Given the description of an element on the screen output the (x, y) to click on. 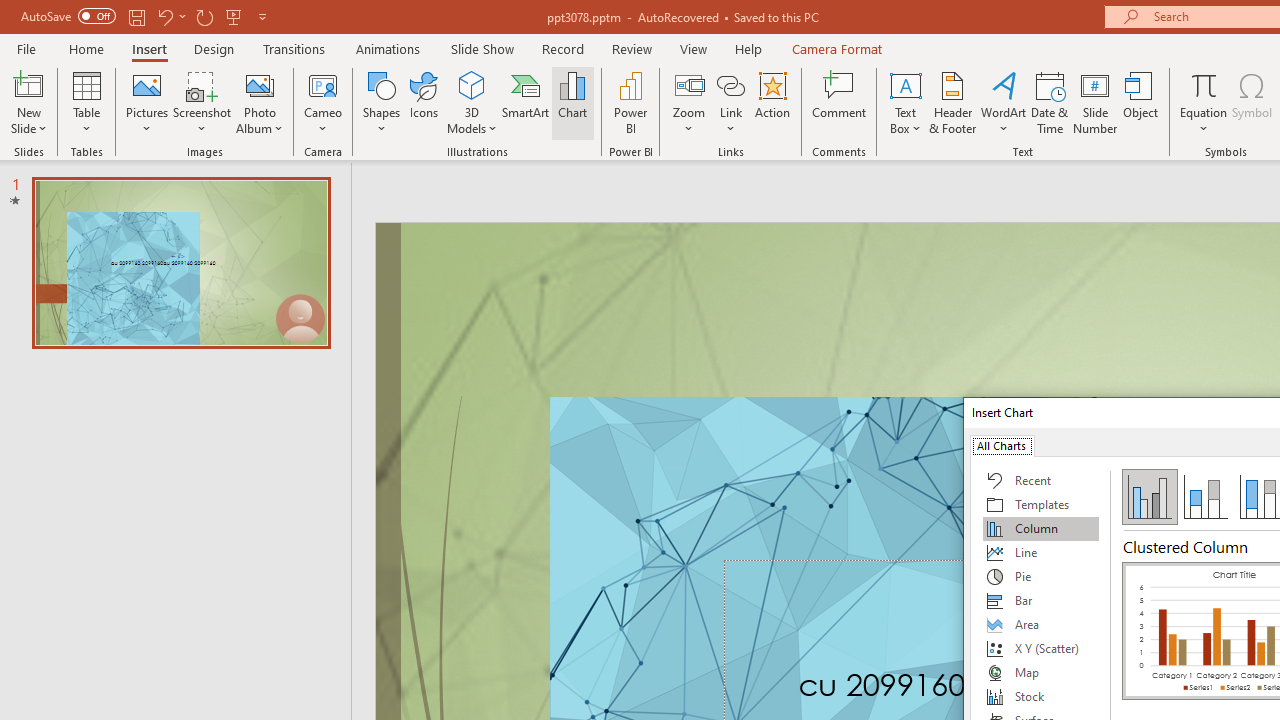
Table (86, 102)
Bar (1041, 600)
Camera Format (836, 48)
Object... (1141, 102)
Slide Number (1095, 102)
Templates (1041, 504)
Draw Horizontal Text Box (905, 84)
Area (1041, 624)
Power BI (630, 102)
